Given the description of an element on the screen output the (x, y) to click on. 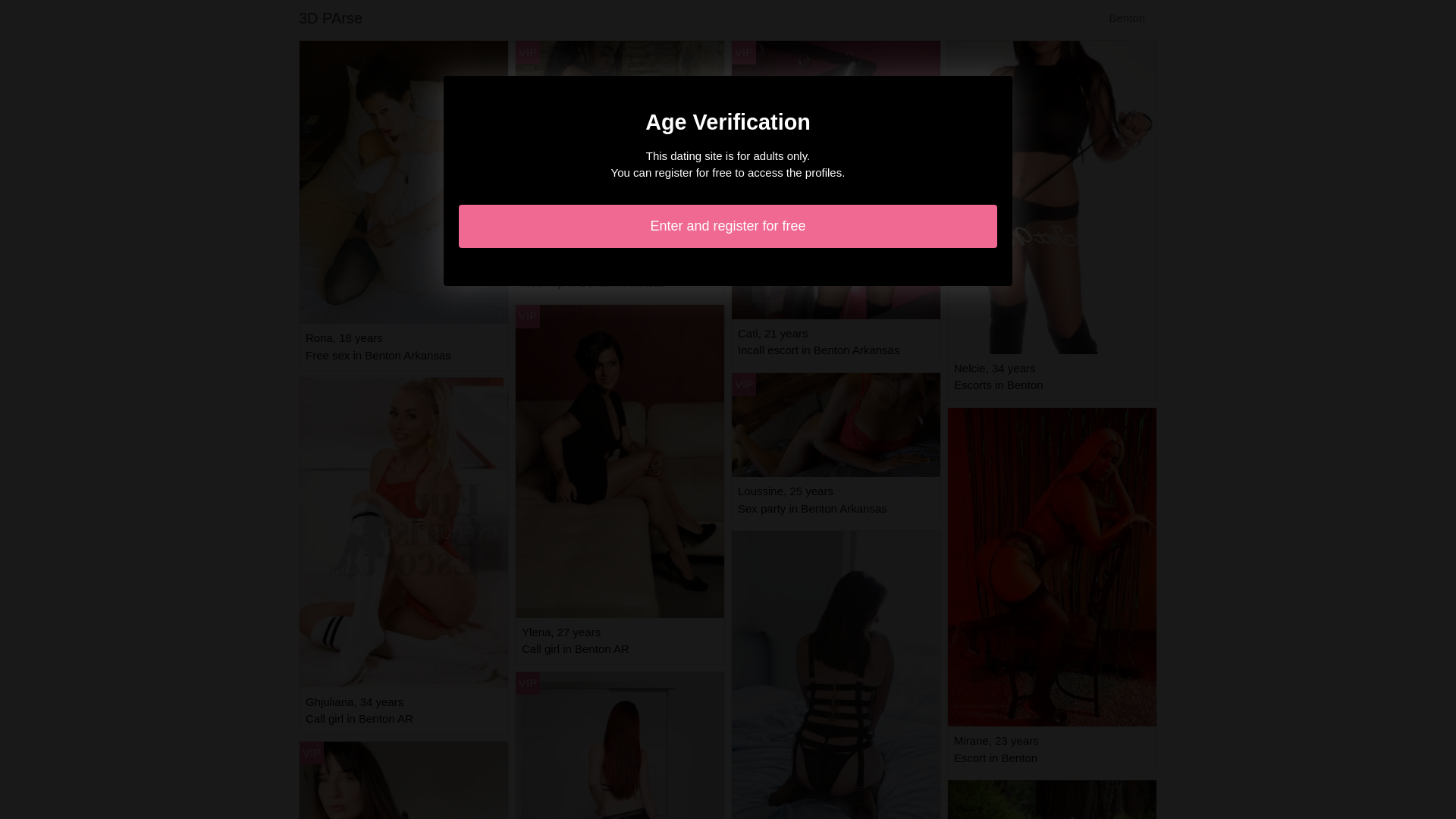
3D PArse Element type: text (330, 18)
Enter and register for free Element type: text (727, 225)
